Given the description of an element on the screen output the (x, y) to click on. 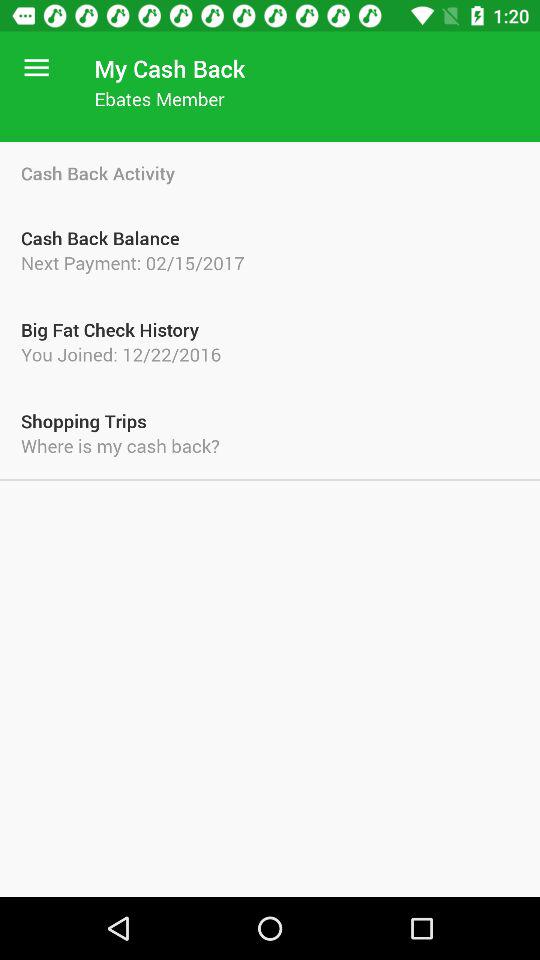
click icon below the you joined 12 (270, 420)
